Given the description of an element on the screen output the (x, y) to click on. 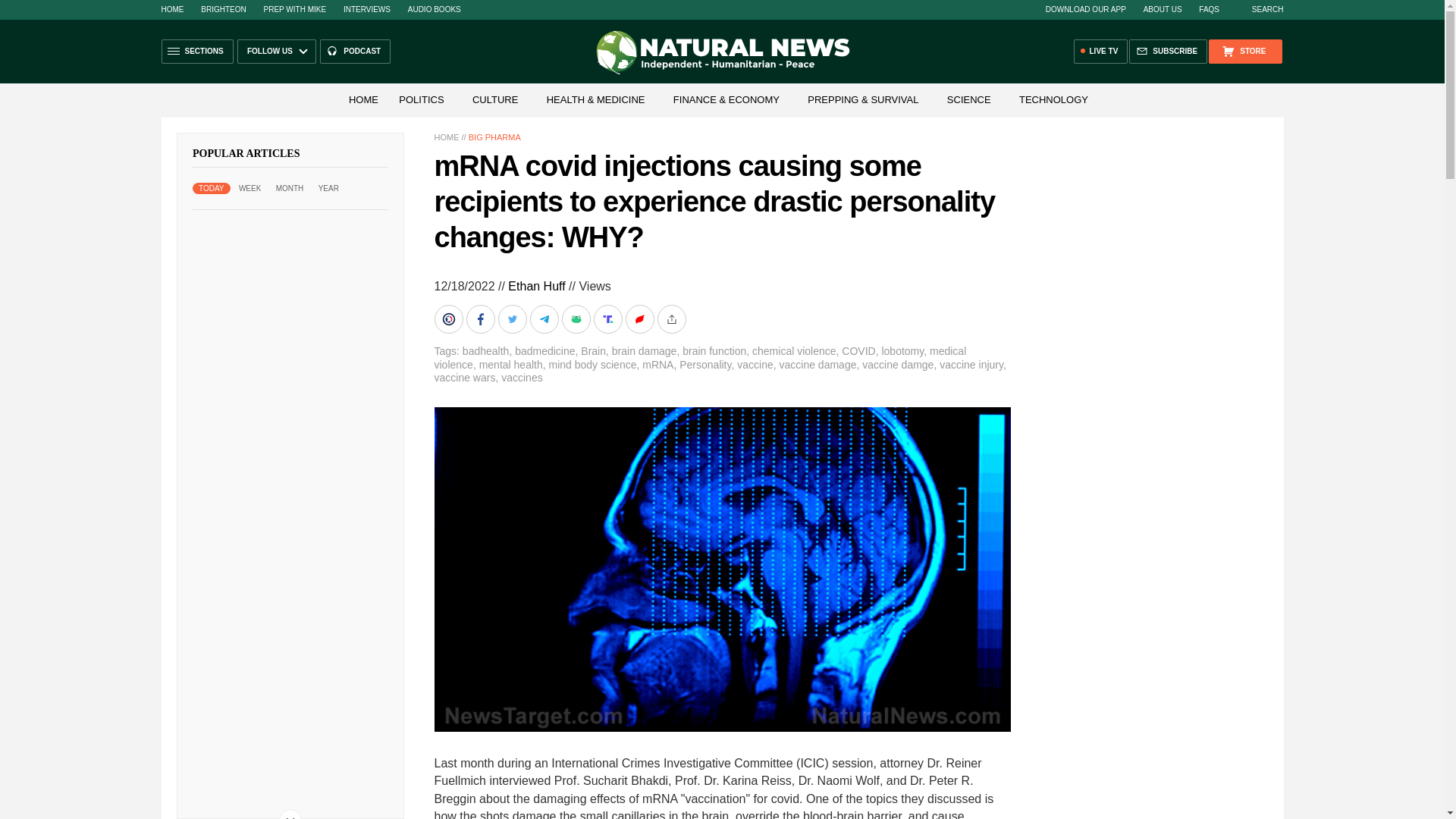
FAQS (1209, 8)
Share on Telegram (544, 318)
Search (1260, 8)
DOWNLOAD OUR APP (1085, 8)
CULTURE (495, 99)
PREP WITH MIKE (294, 8)
SEARCH (1260, 8)
POLITICS (421, 99)
BIG PHARMA (494, 136)
PODCAST (355, 51)
